Given the description of an element on the screen output the (x, y) to click on. 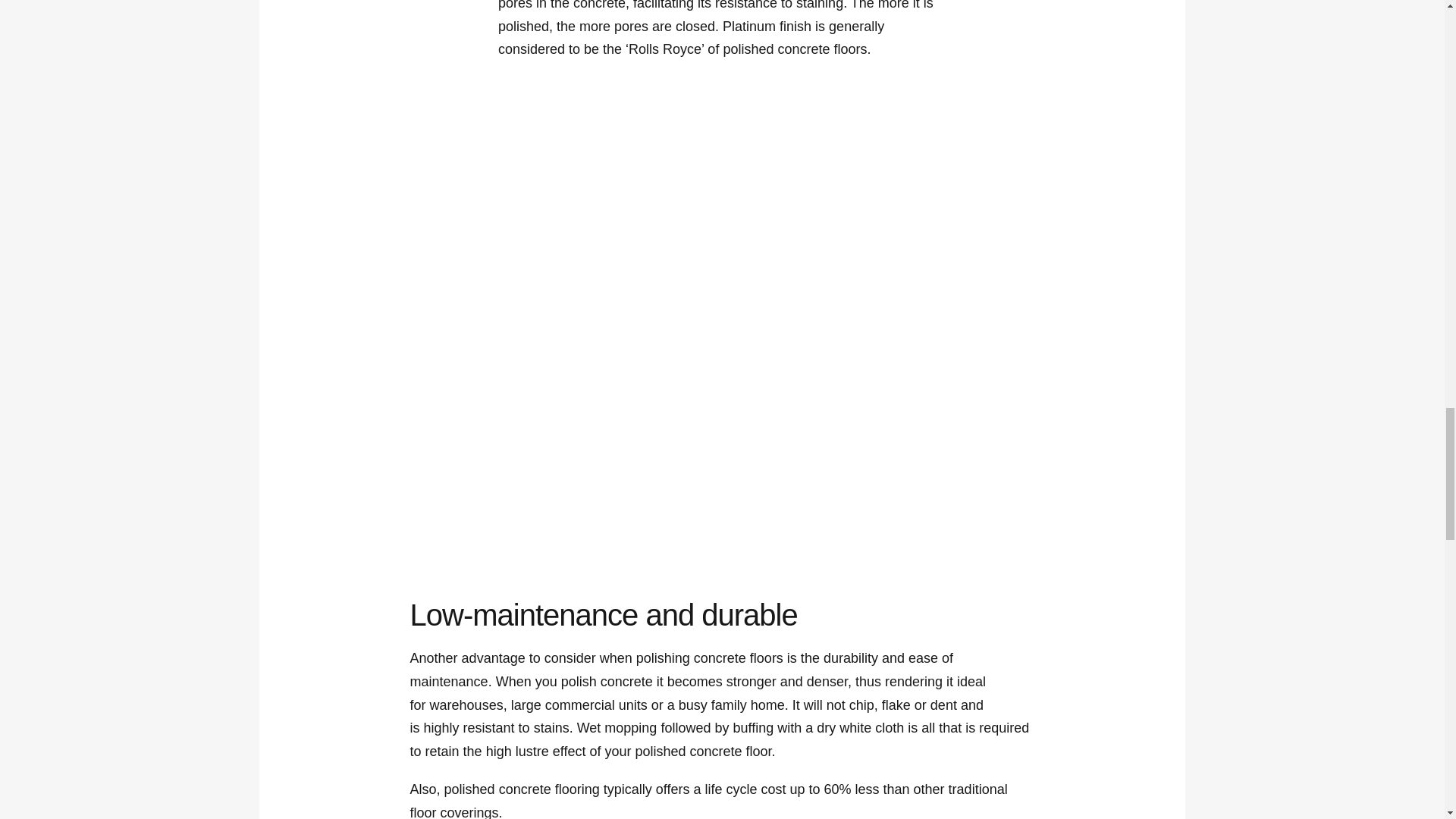
SILVER (803, 221)
Grinding warehouse concrete floors (885, 420)
GOLD (641, 221)
PLATINUM (964, 221)
Bronze (478, 221)
